Given the description of an element on the screen output the (x, y) to click on. 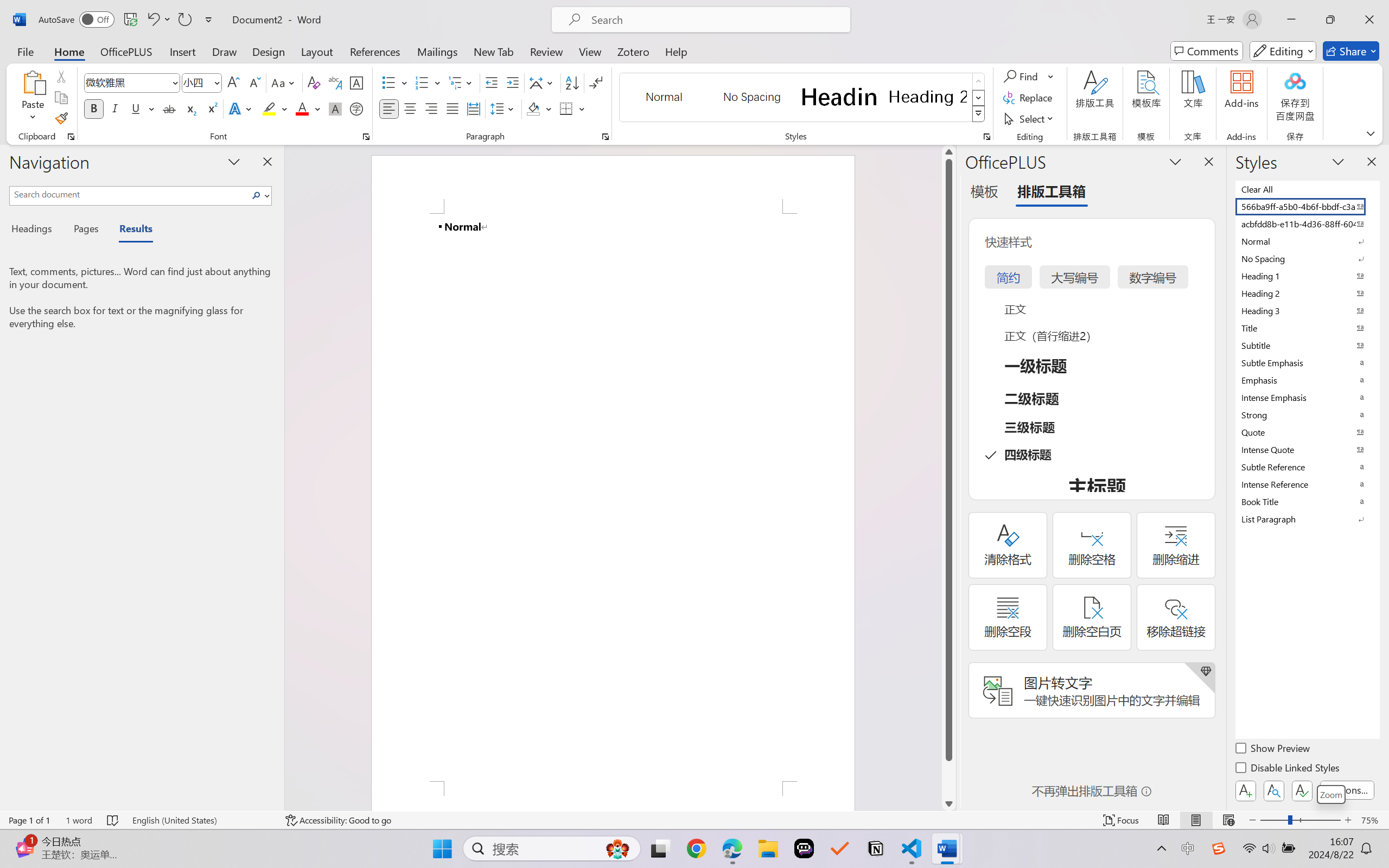
Copy (60, 97)
Search (259, 195)
Row up (978, 81)
Asian Layout (542, 82)
Font (132, 82)
Heading 1 (839, 96)
Pages (85, 229)
Headings (35, 229)
Borders (571, 108)
Underline (142, 108)
Office Clipboard... (70, 136)
Book Title (1306, 501)
Repeat Doc Close (184, 19)
Paragraph... (605, 136)
